Given the description of an element on the screen output the (x, y) to click on. 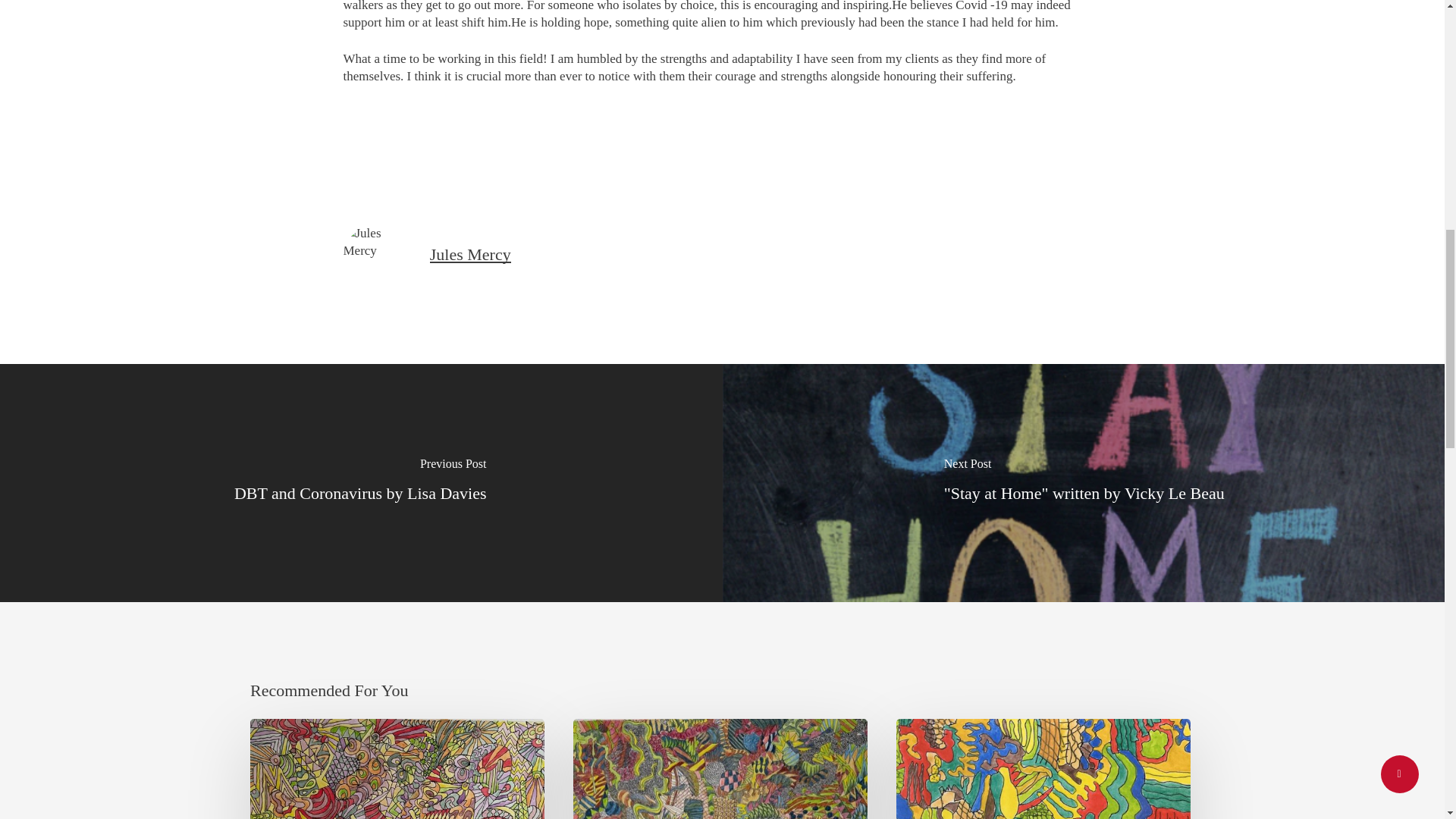
Jules Mercy (470, 253)
